Given the description of an element on the screen output the (x, y) to click on. 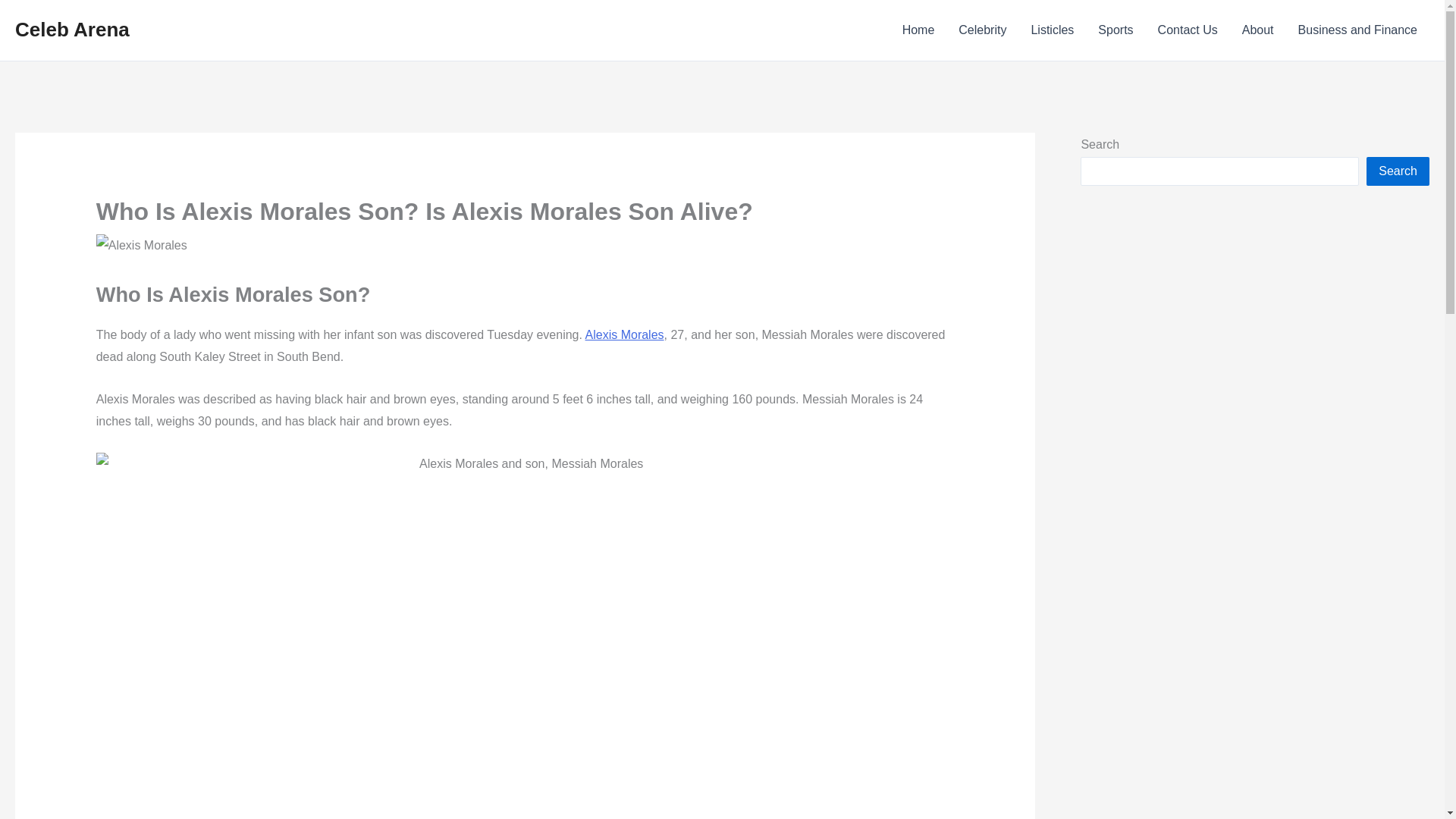
About (1257, 30)
Celebrity (981, 30)
Business and Finance (1357, 30)
Listicles (1051, 30)
Contact Us (1187, 30)
Celeb Arena (71, 29)
Sports (1115, 30)
Home (918, 30)
